Given the description of an element on the screen output the (x, y) to click on. 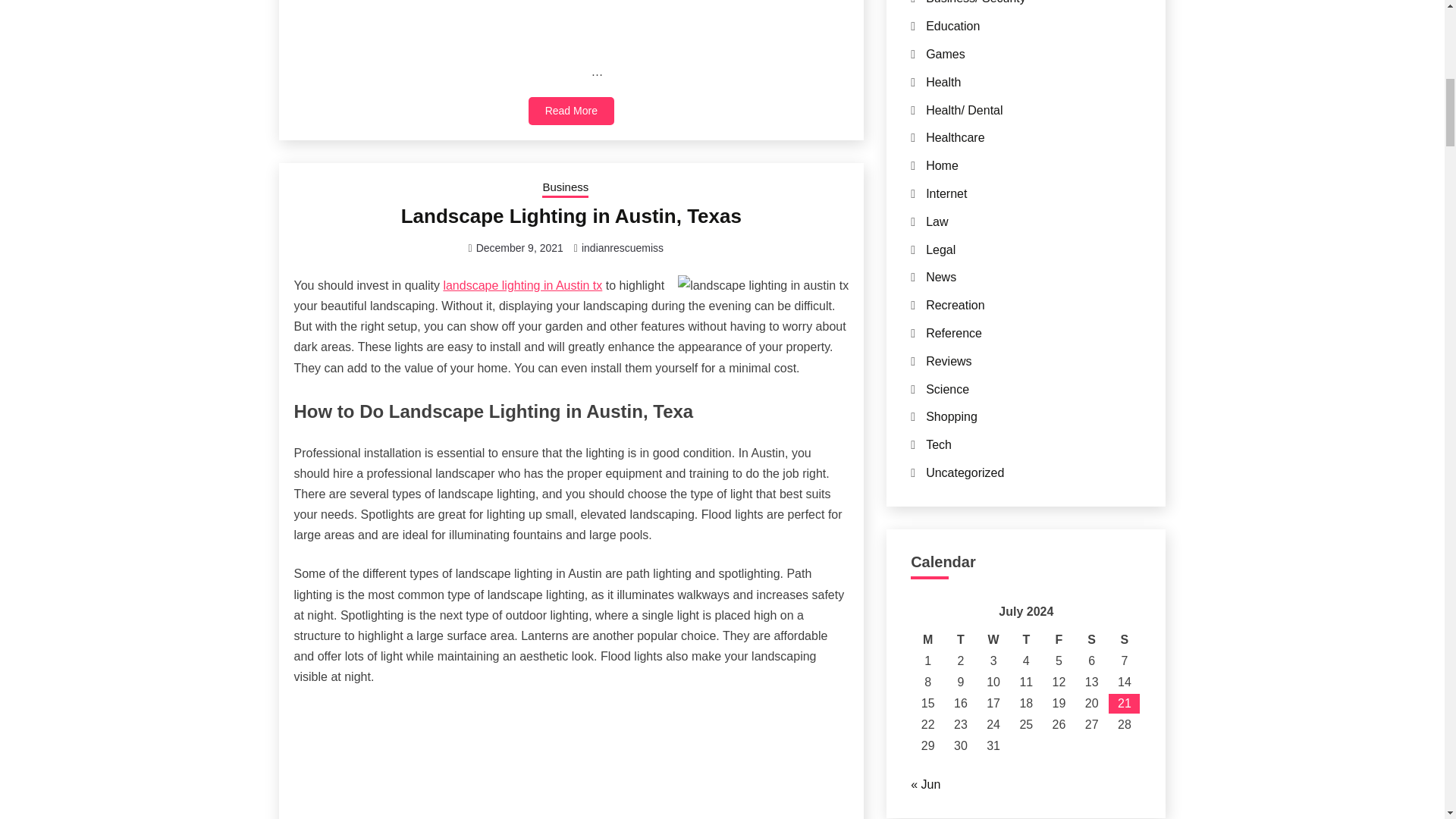
Monday (927, 639)
December 9, 2021 (519, 247)
Thursday (1026, 639)
Sunday (1124, 639)
Landscape Lighting in Austin, Texas (571, 215)
Read More (571, 111)
Saturday (1090, 639)
Business (564, 189)
Wednesday (993, 639)
landscape lighting in Austin tx (522, 285)
Friday (1058, 639)
indianrescuemiss (621, 247)
Tuesday (959, 639)
